Given the description of an element on the screen output the (x, y) to click on. 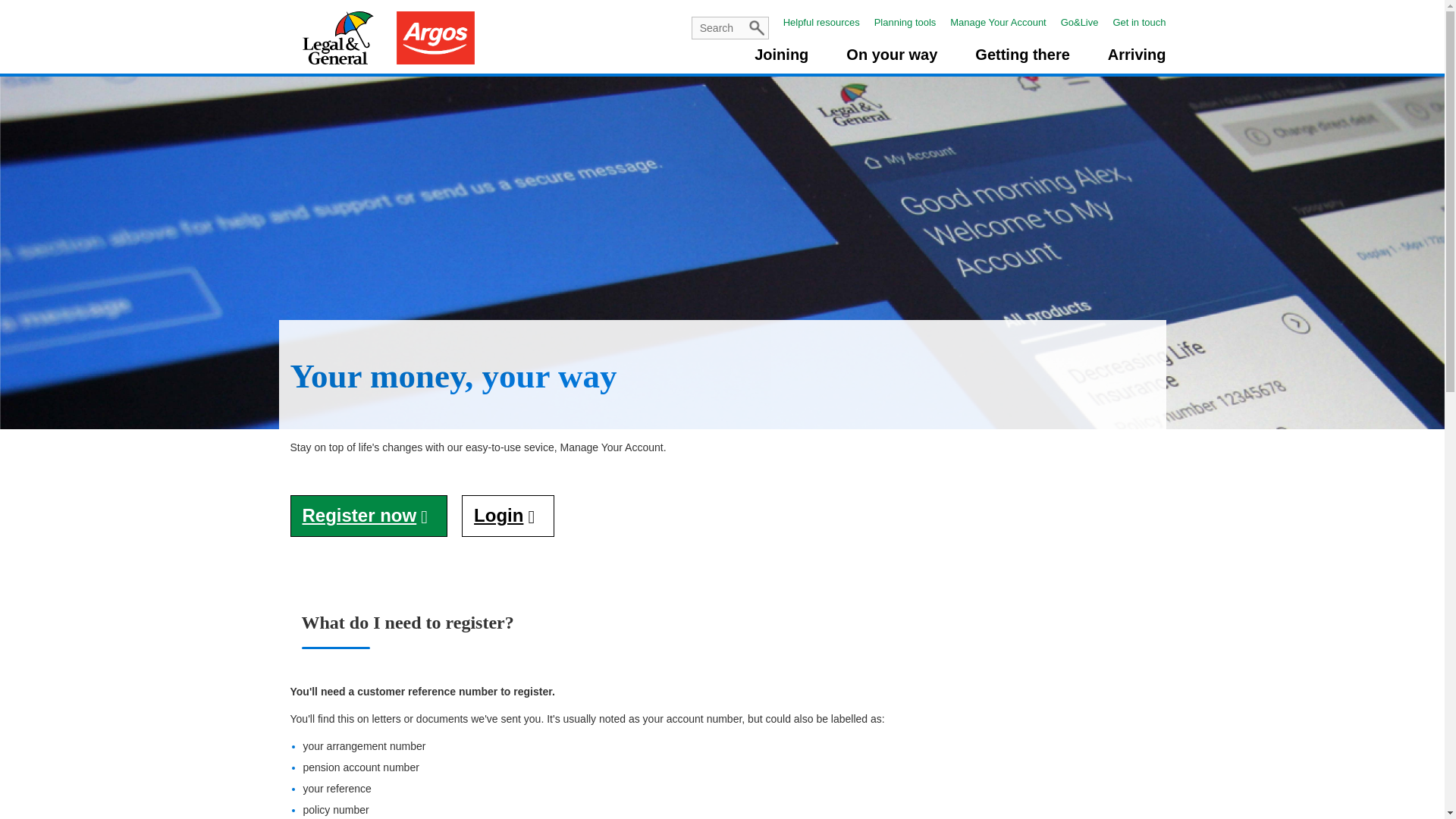
Helpful resources (826, 21)
Joining (781, 59)
Planning tools (911, 21)
Get in touch (1139, 21)
On your way (891, 59)
Manage Your Account (1004, 21)
